Given the description of an element on the screen output the (x, y) to click on. 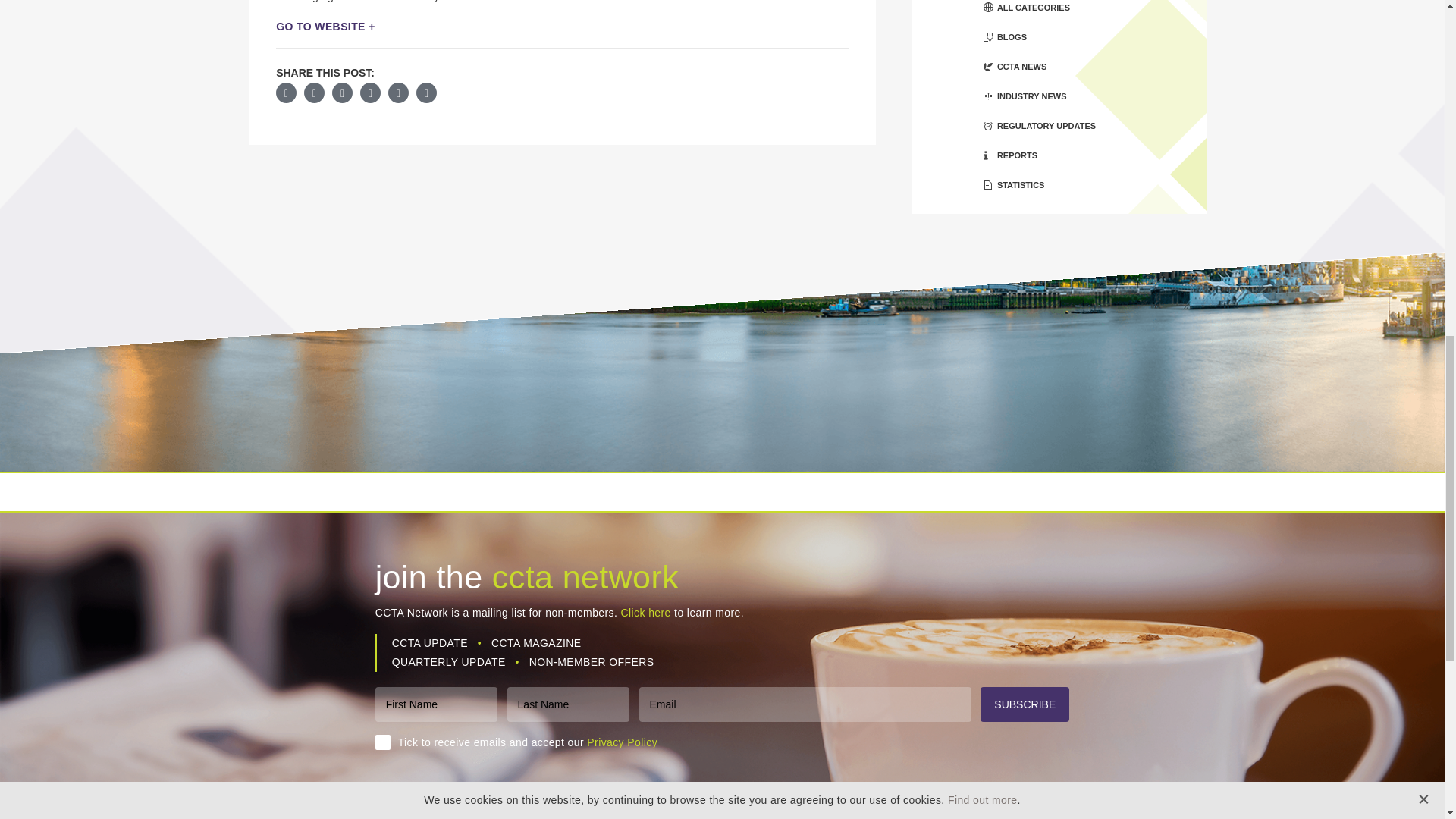
Subscribe (1023, 704)
